Given the description of an element on the screen output the (x, y) to click on. 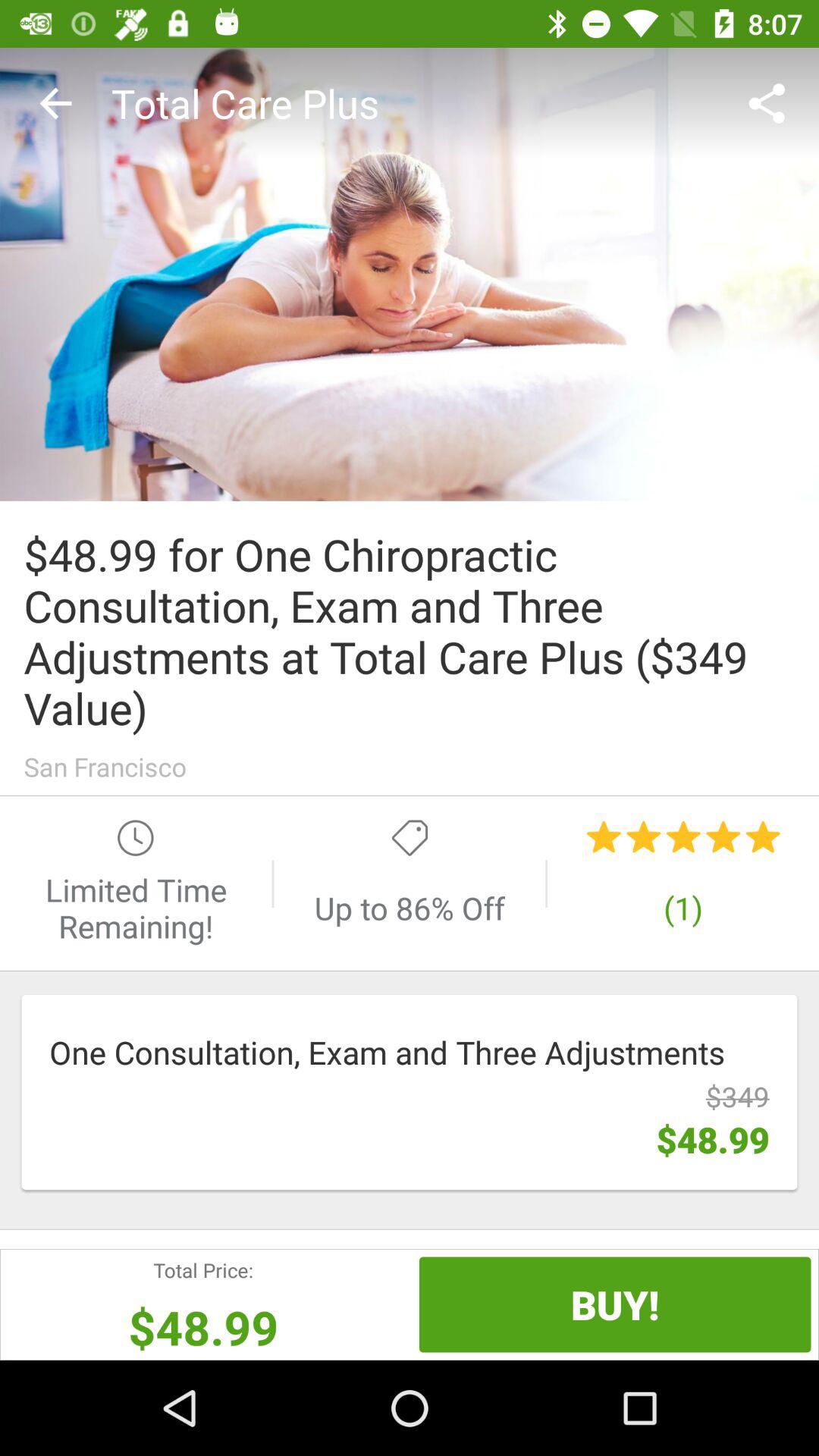
tap the icon above 48 99 for icon (771, 103)
